Given the description of an element on the screen output the (x, y) to click on. 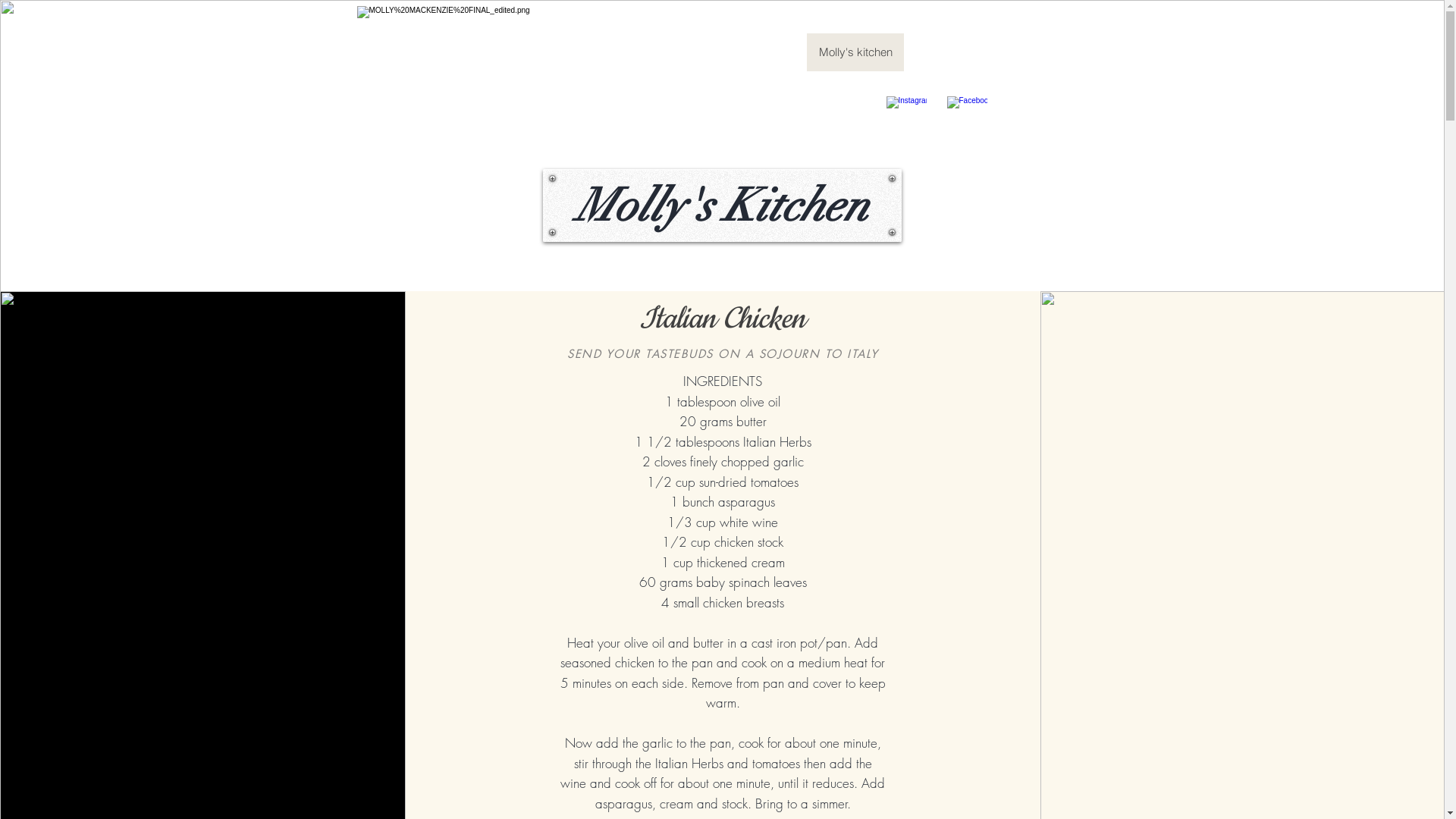
Products Element type: text (772, 52)
Molly's kitchen Element type: text (854, 52)
Home Element type: text (566, 52)
Contact Us Element type: text (943, 52)
Store Stockist Element type: text (638, 52)
About Element type: text (711, 52)
